Given the description of an element on the screen output the (x, y) to click on. 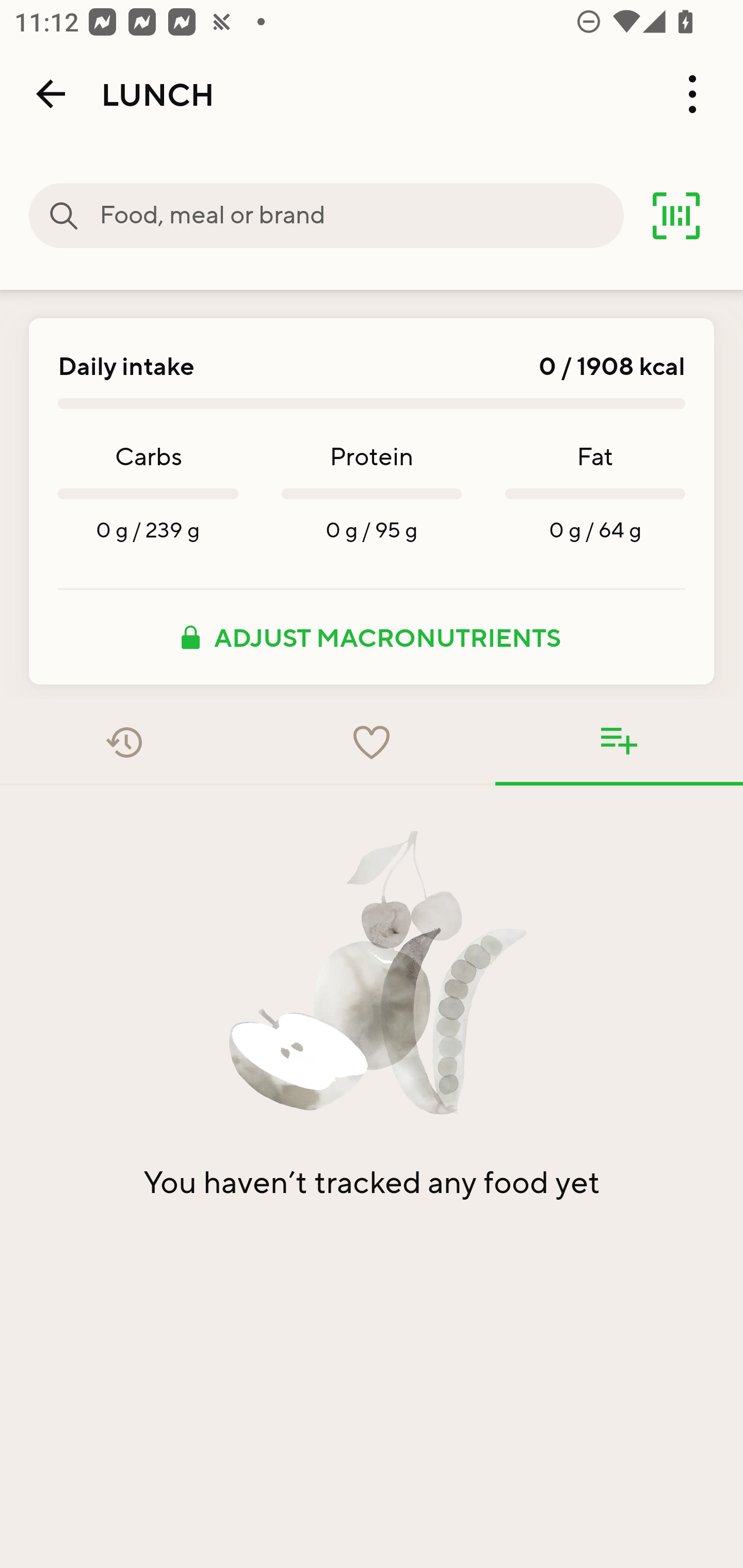
Back (50, 93)
Food, meal or brand (63, 215)
Food, meal or brand (361, 215)
ADJUST MACRONUTRIENTS (371, 637)
Recent (123, 742)
Favorites (371, 742)
